Given the description of an element on the screen output the (x, y) to click on. 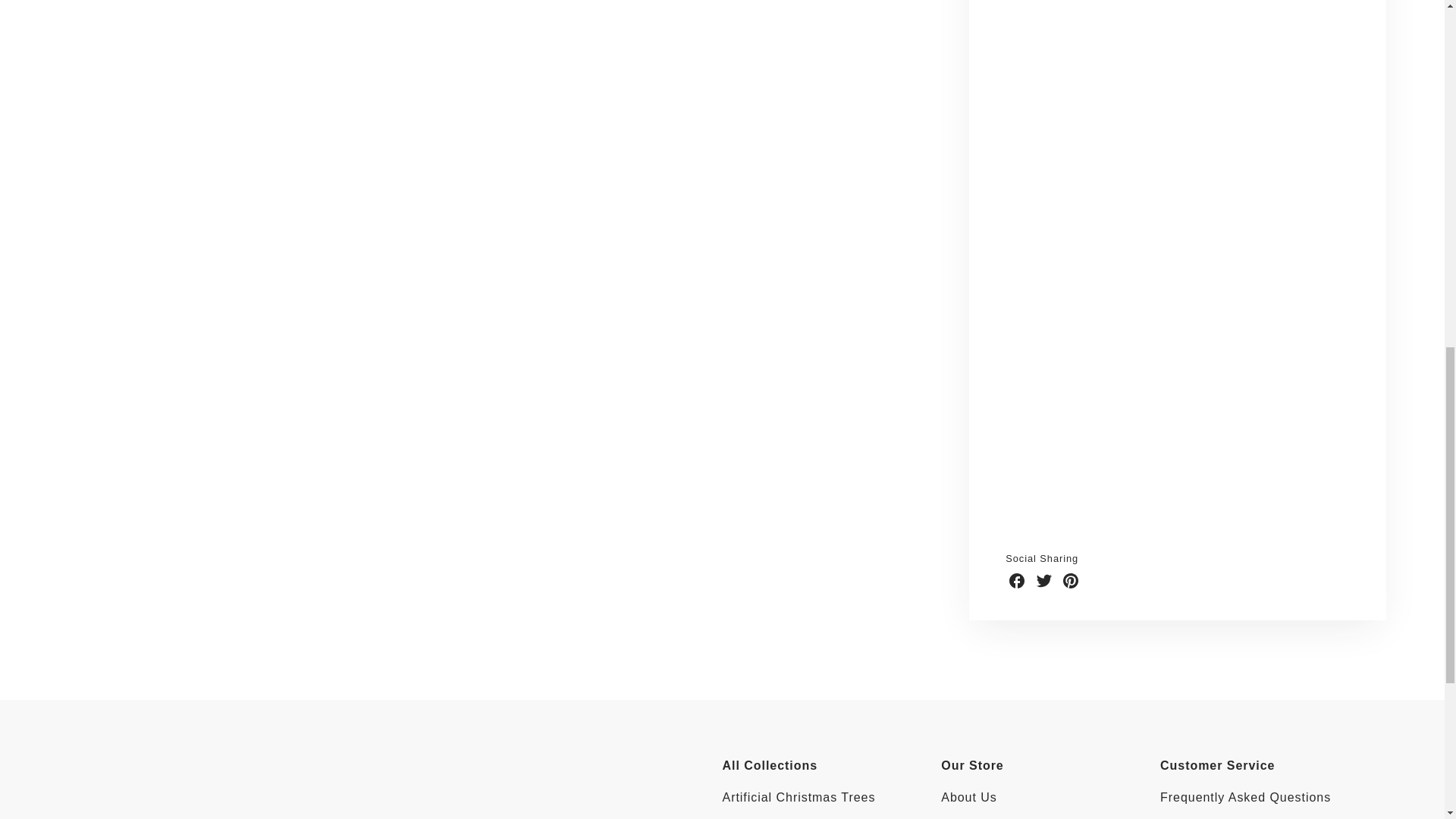
Pin on Pinterest (1070, 580)
Tweet on Twitter (1043, 580)
Share on Facebook (1016, 580)
